Given the description of an element on the screen output the (x, y) to click on. 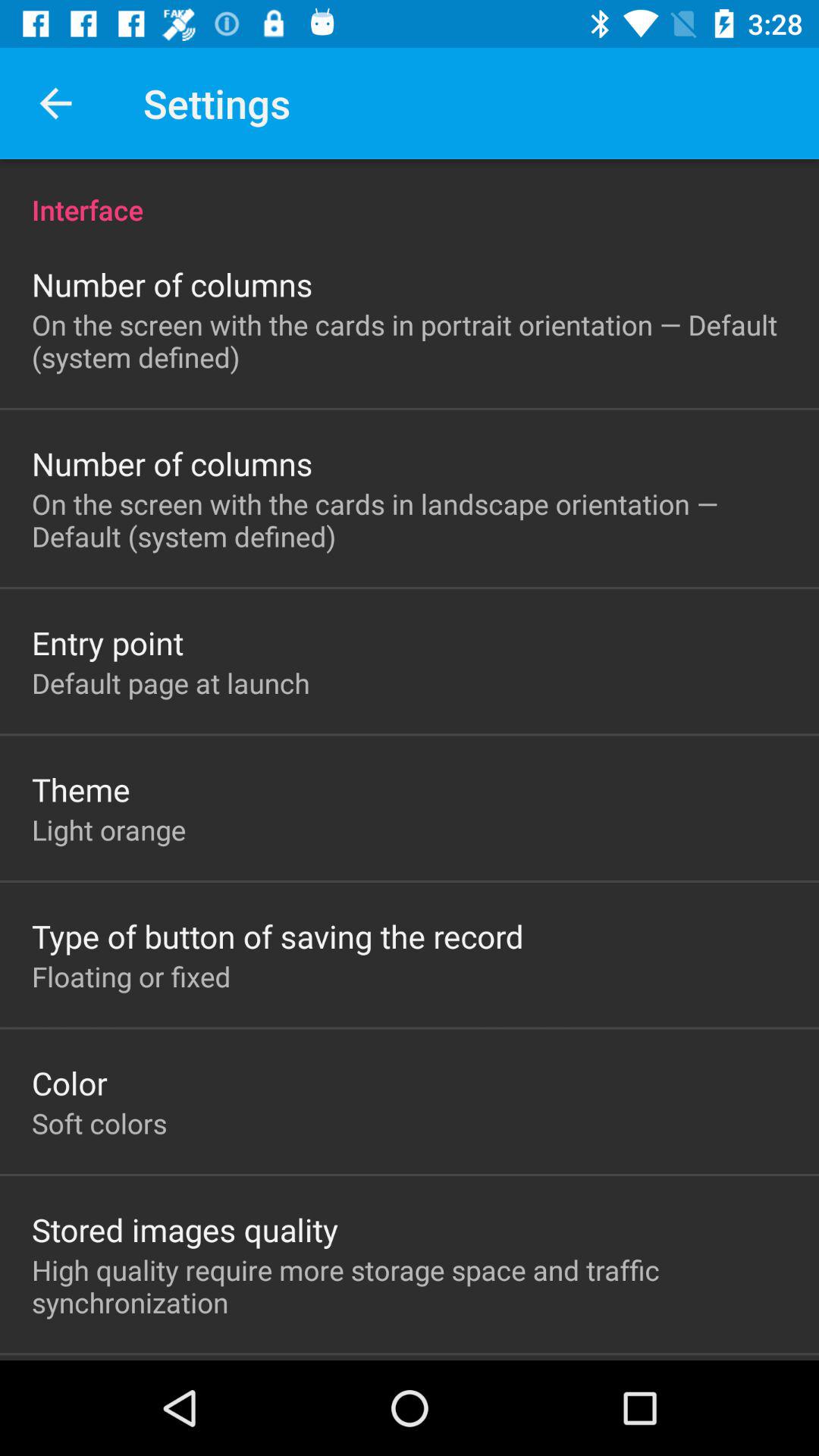
click the icon below entry point item (170, 682)
